Given the description of an element on the screen output the (x, y) to click on. 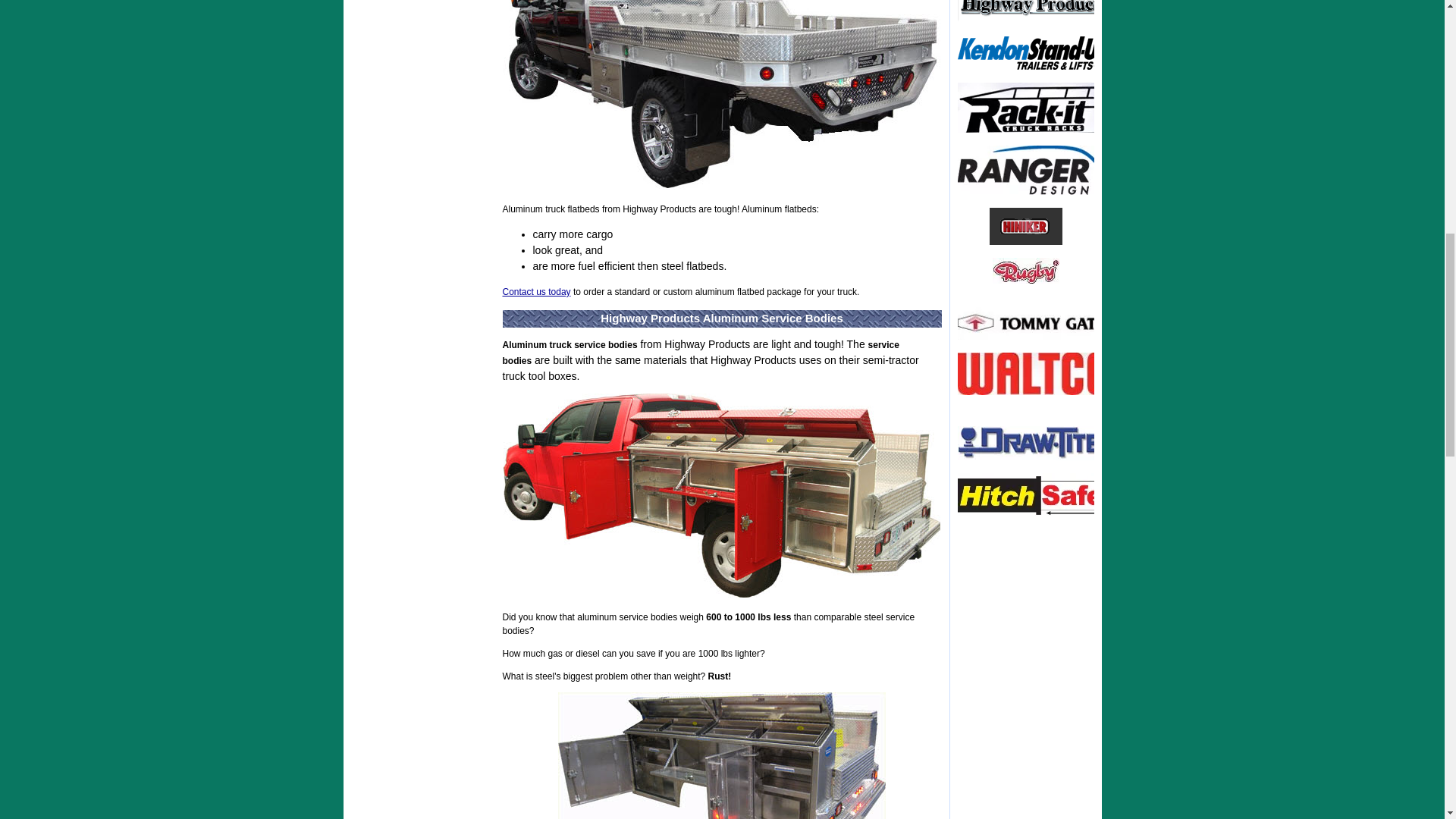
Go to The Hitch Safe - Never Lose Your Keys Again (1032, 511)
Go to Rack-It Truck Racks for your truck (1032, 129)
Go to Ranger Design Van Shelving, Racks, and Accessories (1032, 191)
Contact us today (536, 291)
Go to Kendon Stand-Up Motorcycle Trailers (1032, 66)
